Given the description of an element on the screen output the (x, y) to click on. 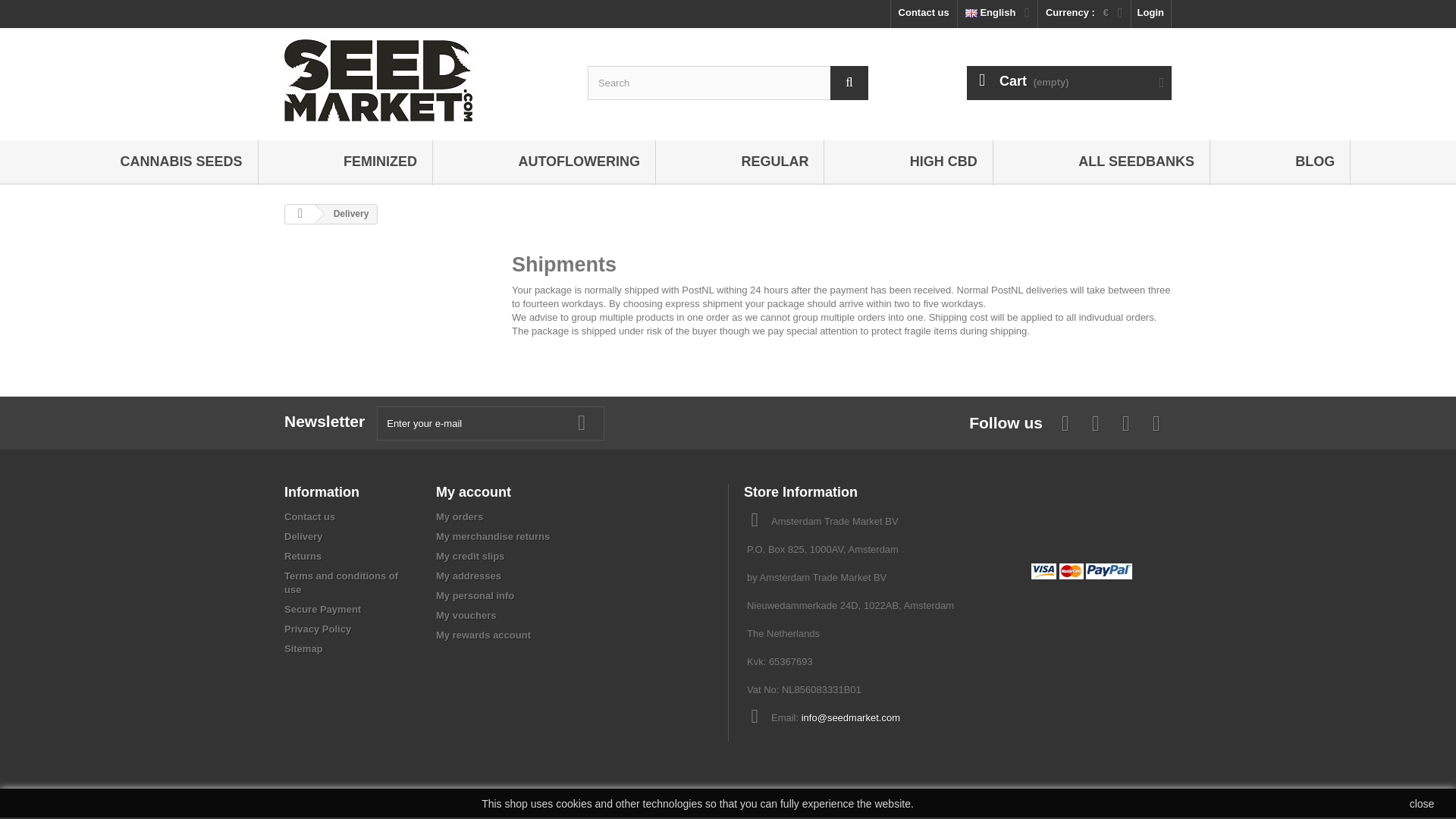
REGULAR (774, 162)
AUTOFLOWERING (578, 162)
CANNABIS SEEDS (180, 162)
BLOG (1314, 162)
FEMINIZED (380, 162)
Contact us (923, 13)
Contact us (923, 13)
HIGH CBD (943, 162)
Login (1150, 12)
Contact us (308, 516)
Returns (302, 555)
HIGH CBD (943, 162)
Login (1150, 13)
All seedbanks (1135, 162)
Terms and conditions of use (340, 582)
